Given the description of an element on the screen output the (x, y) to click on. 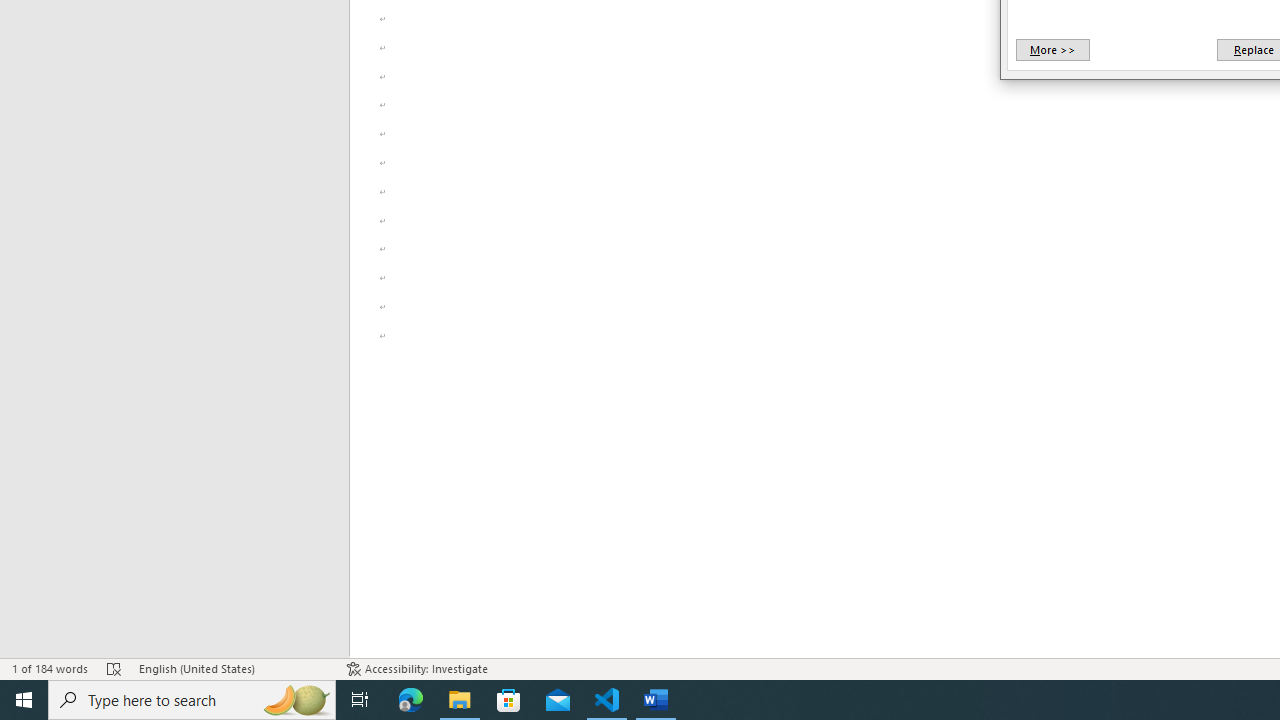
Word - 1 running window (656, 699)
Spelling and Grammar Check Errors (114, 668)
Task View (359, 699)
Type here to search (191, 699)
Visual Studio Code - 1 running window (607, 699)
Language English (United States) (232, 668)
Accessibility Checker Accessibility: Investigate (417, 668)
Microsoft Edge (411, 699)
More >> (1052, 49)
Microsoft Store (509, 699)
File Explorer - 1 running window (460, 699)
Search highlights icon opens search home window (295, 699)
Start (24, 699)
